Given the description of an element on the screen output the (x, y) to click on. 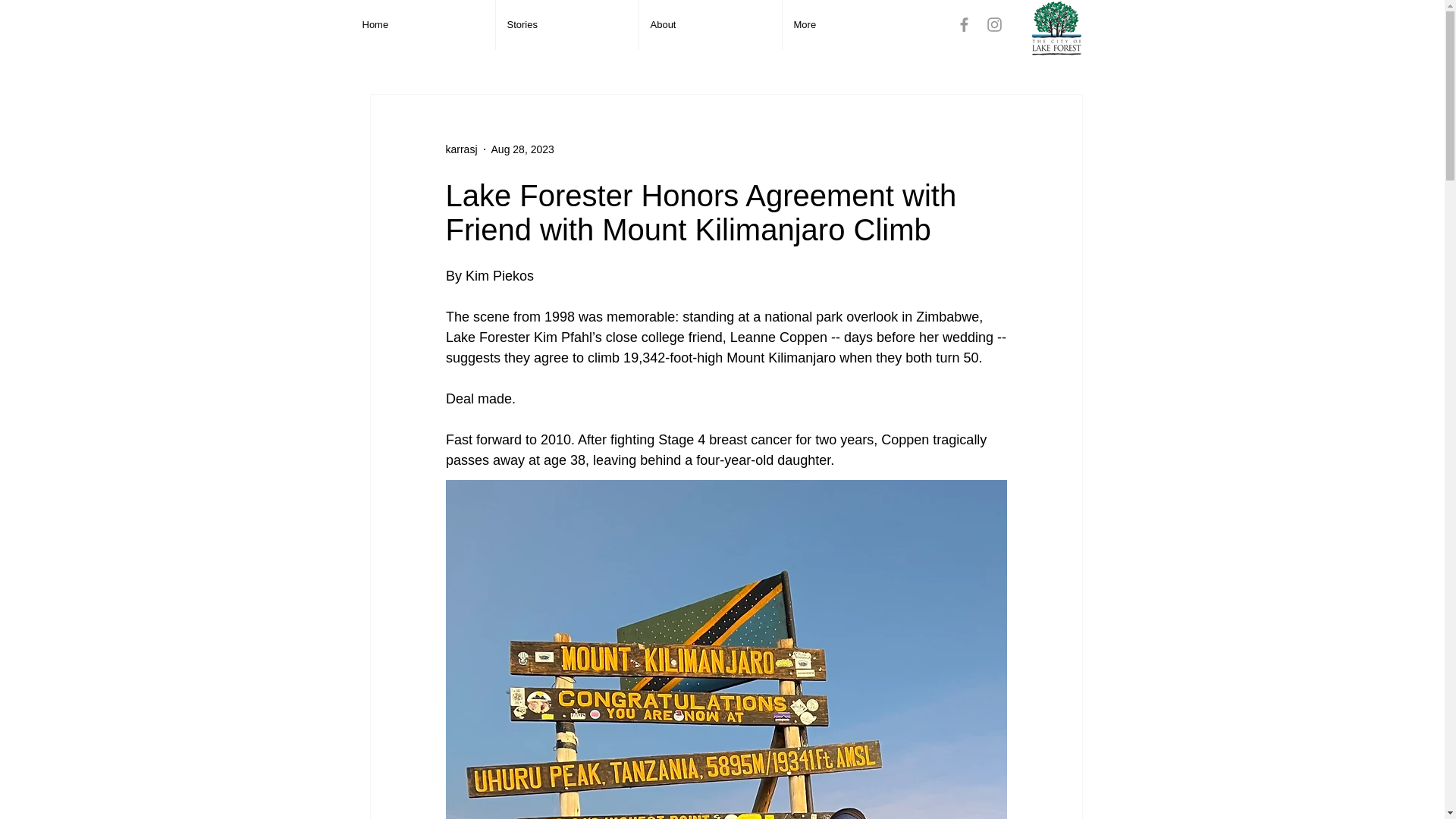
Stories (567, 24)
In the Spotlight (936, 47)
print logo - 300 dpi - 1.5 inch.tif (1055, 28)
Home (422, 24)
All Posts (391, 47)
People You Should Know (504, 47)
Aug 28, 2023 (523, 148)
Sports Life (717, 47)
karrasj (461, 148)
Around Town (628, 47)
